Given the description of an element on the screen output the (x, y) to click on. 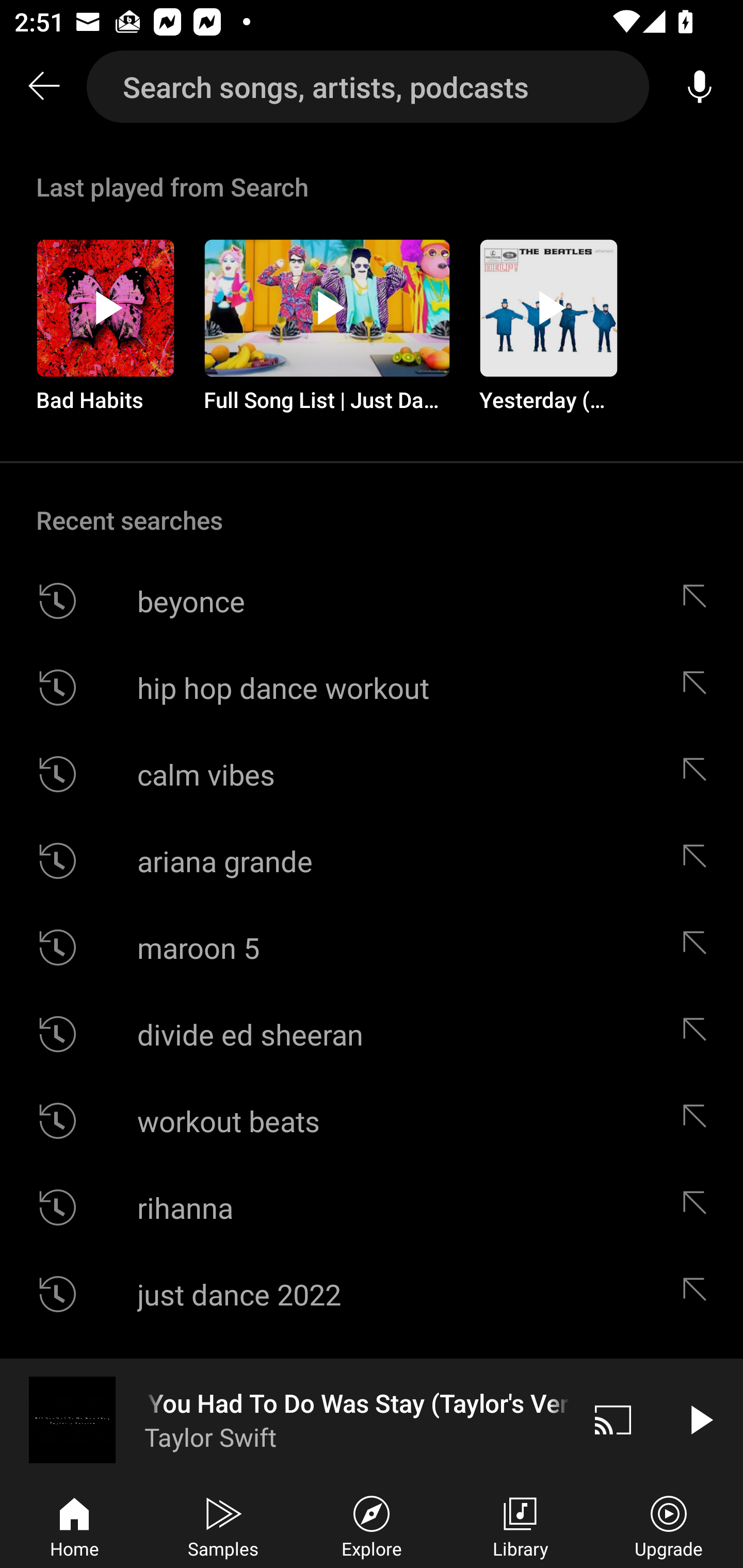
Search back (43, 86)
Search songs, artists, podcasts (367, 86)
Voice search (699, 86)
beyonce Edit suggestion beyonce (371, 601)
Edit suggestion beyonce (699, 601)
Edit suggestion hip hop dance workout (699, 687)
calm vibes Edit suggestion calm vibes (371, 773)
Edit suggestion calm vibes (699, 773)
ariana grande Edit suggestion ariana grande (371, 860)
Edit suggestion ariana grande (699, 860)
maroon 5 Edit suggestion maroon 5 (371, 947)
Edit suggestion maroon 5 (699, 947)
Edit suggestion divide ed sheeran (699, 1033)
workout beats Edit suggestion workout beats (371, 1120)
Edit suggestion workout beats (699, 1120)
rihanna Edit suggestion rihanna (371, 1207)
Edit suggestion rihanna (699, 1207)
just dance 2022 Edit suggestion just dance 2022 (371, 1294)
Edit suggestion just dance 2022 (699, 1294)
Cast. Disconnected (612, 1419)
Play video (699, 1419)
Home (74, 1524)
Samples (222, 1524)
Explore (371, 1524)
Library (519, 1524)
Upgrade (668, 1524)
